Given the description of an element on the screen output the (x, y) to click on. 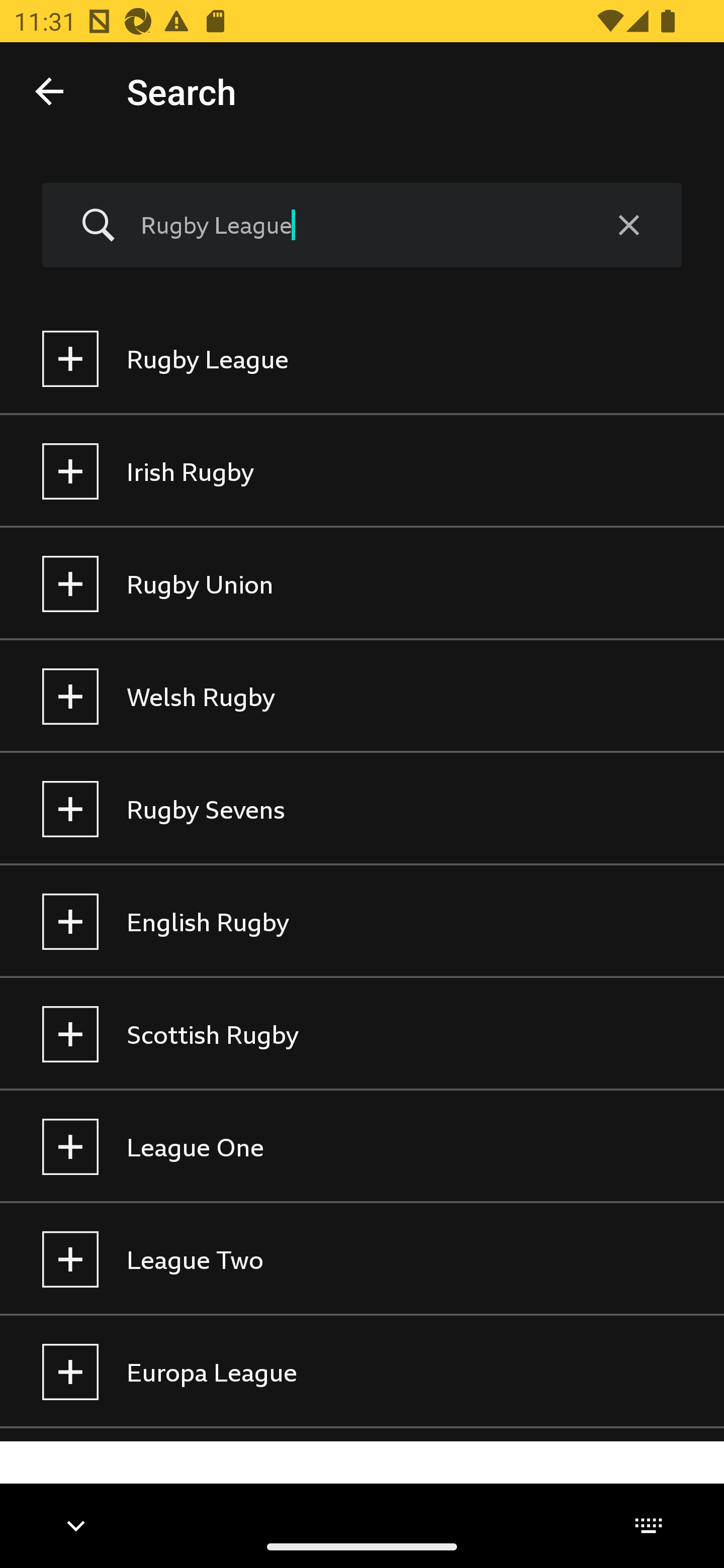
Done (49, 90)
Rugby League Clear query (361, 225)
Clear query (628, 225)
Rugby League (358, 224)
Rugby League (362, 358)
Irish Rugby (362, 471)
Rugby Union (362, 583)
Welsh Rugby (362, 695)
Rugby Sevens (362, 808)
English Rugby (362, 921)
Scottish Rugby (362, 1034)
League One (362, 1146)
League Two (362, 1258)
Europa League (362, 1371)
